Given the description of an element on the screen output the (x, y) to click on. 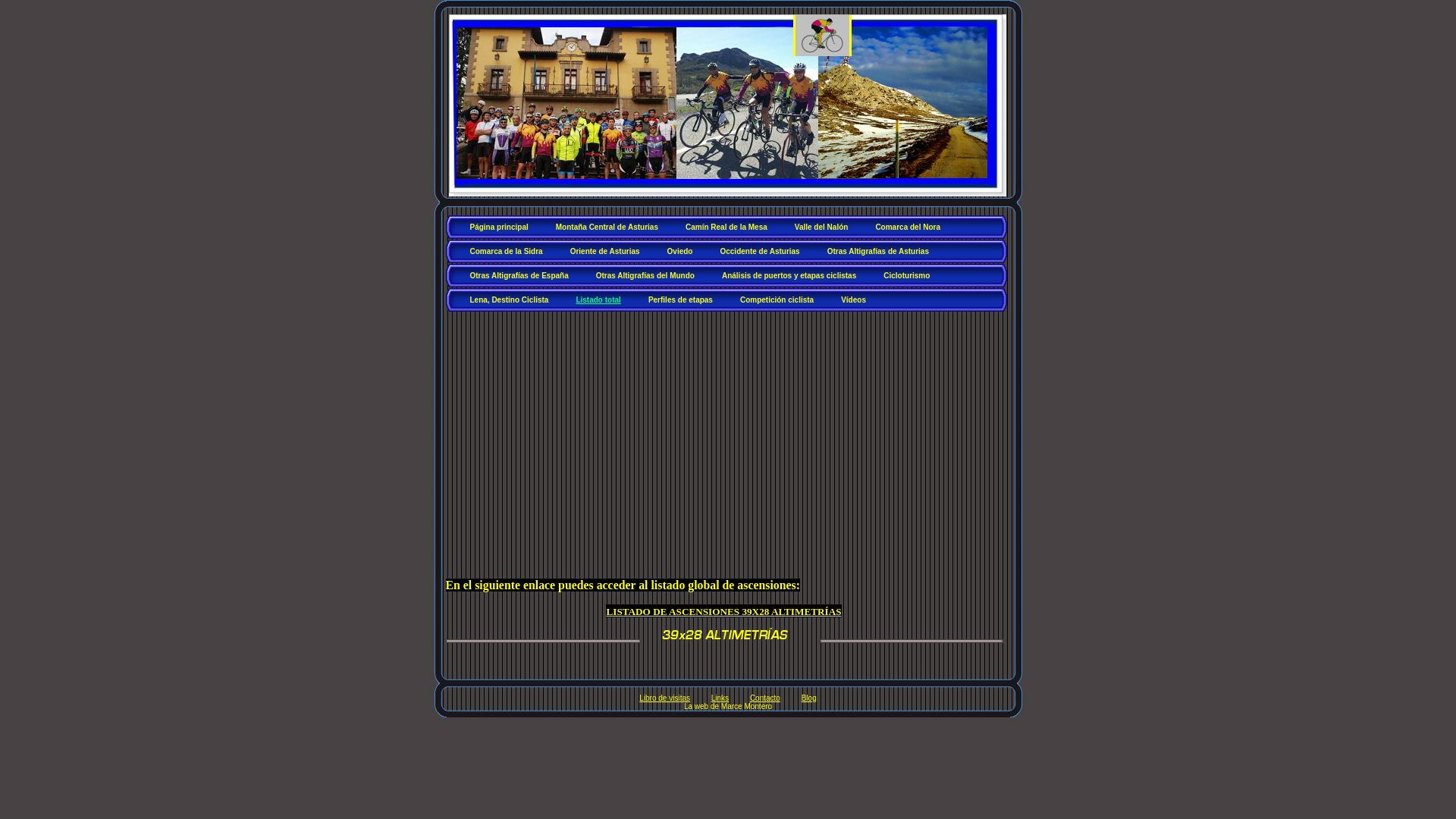
Oriente de Asturias Element type: text (605, 252)
Comarca del Nora Element type: text (908, 228)
Comarca de la Sidra Element type: text (506, 252)
Libro de visitas Element type: text (664, 697)
Advertisement Element type: hover (729, 426)
Links Element type: text (719, 697)
Oviedo Element type: text (680, 252)
Perfiles de etapas Element type: text (681, 301)
Occidente de Asturias Element type: text (759, 252)
Contacto Element type: text (764, 697)
Blog Element type: text (808, 697)
Cicloturismo Element type: text (907, 276)
Lena, Destino Ciclista Element type: text (509, 301)
Listado total Element type: text (598, 301)
